Given the description of an element on the screen output the (x, y) to click on. 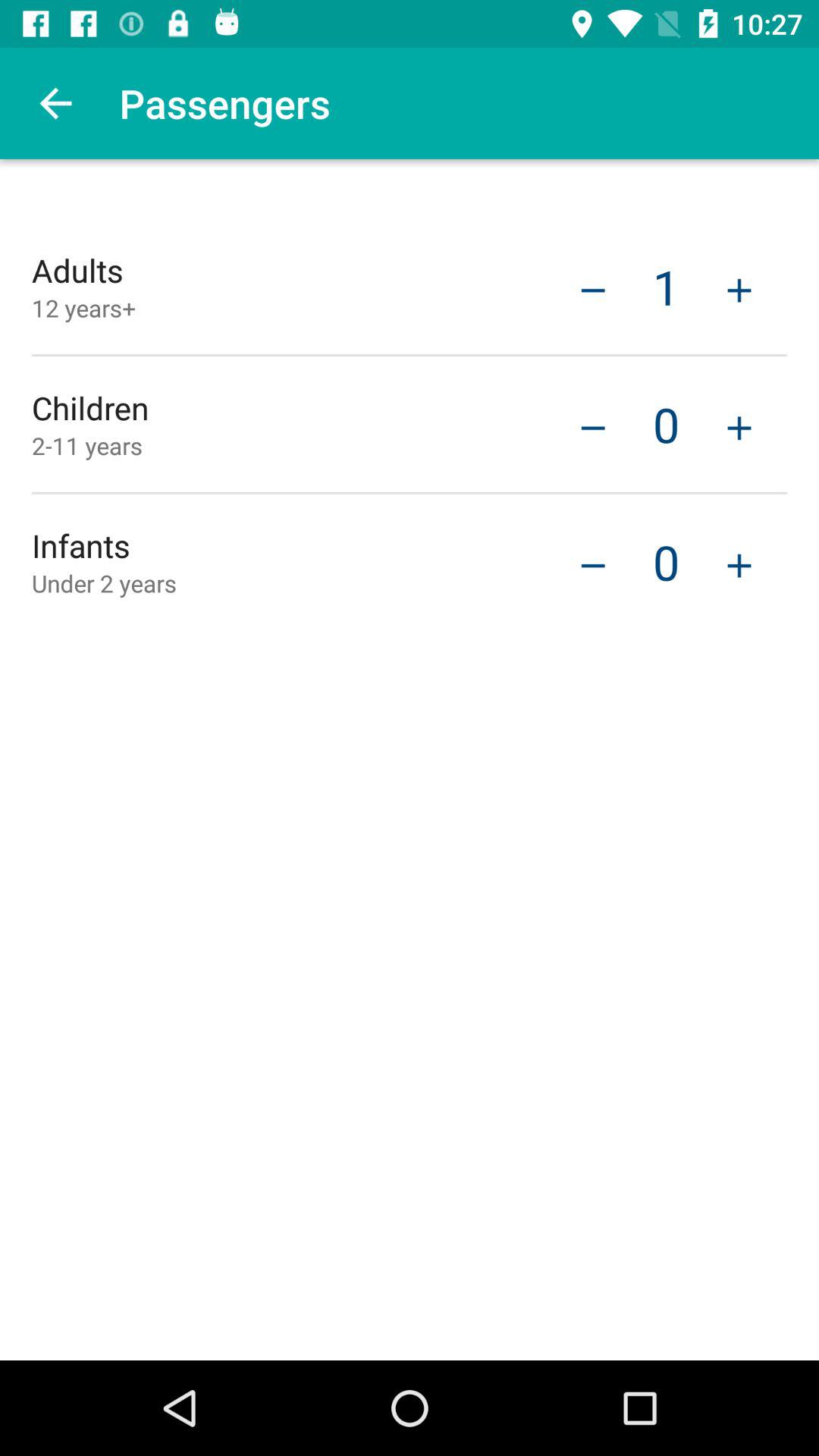
add another button (739, 426)
